Given the description of an element on the screen output the (x, y) to click on. 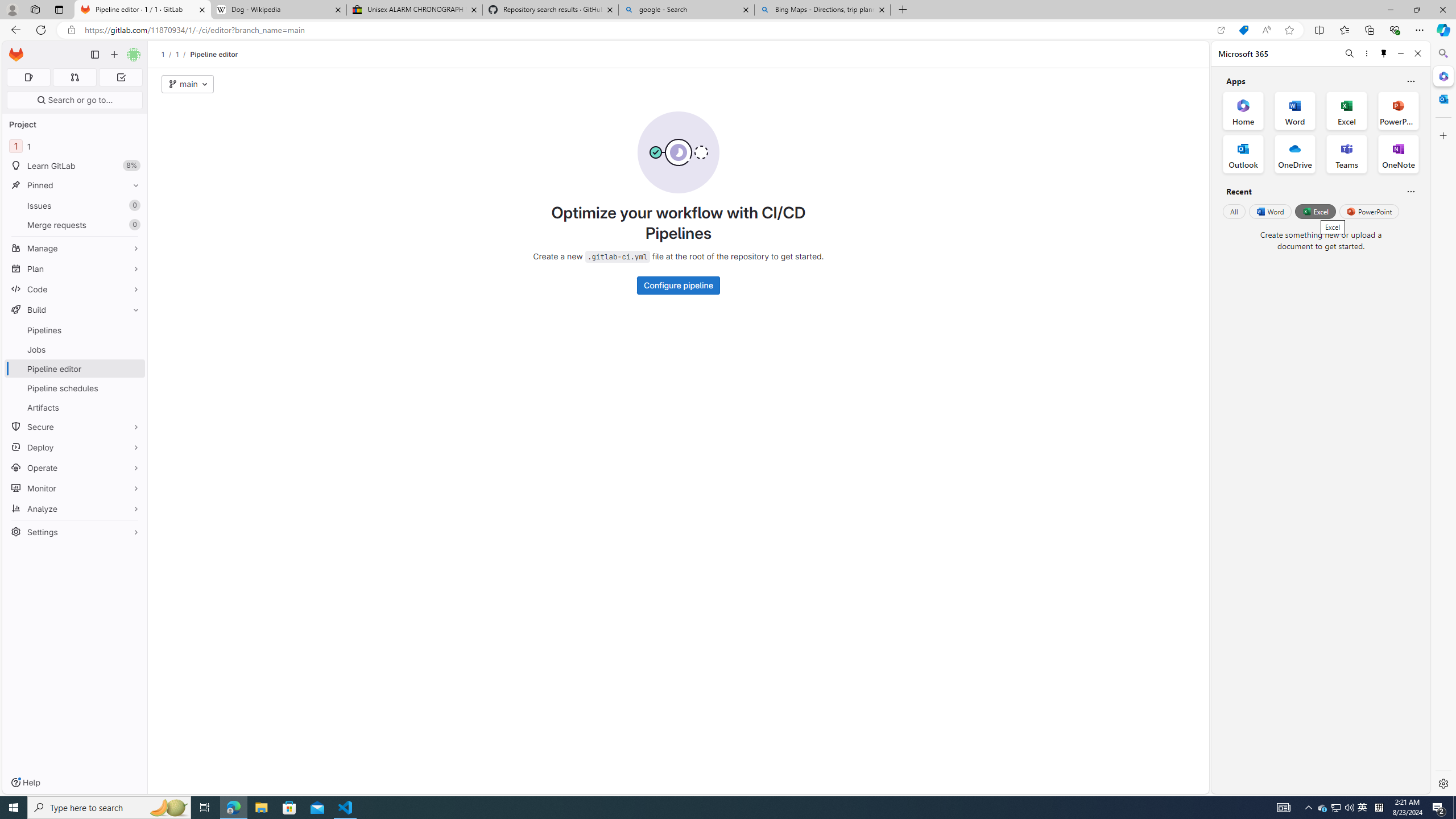
Pipeline editor (213, 53)
Monitor (74, 488)
Excel (1315, 210)
PowerPoint (1369, 210)
Pipeline schedules (74, 387)
Artifacts (74, 407)
Pipelines (74, 330)
OneDrive Office App (1295, 154)
Issues 0 (74, 205)
